Given the description of an element on the screen output the (x, y) to click on. 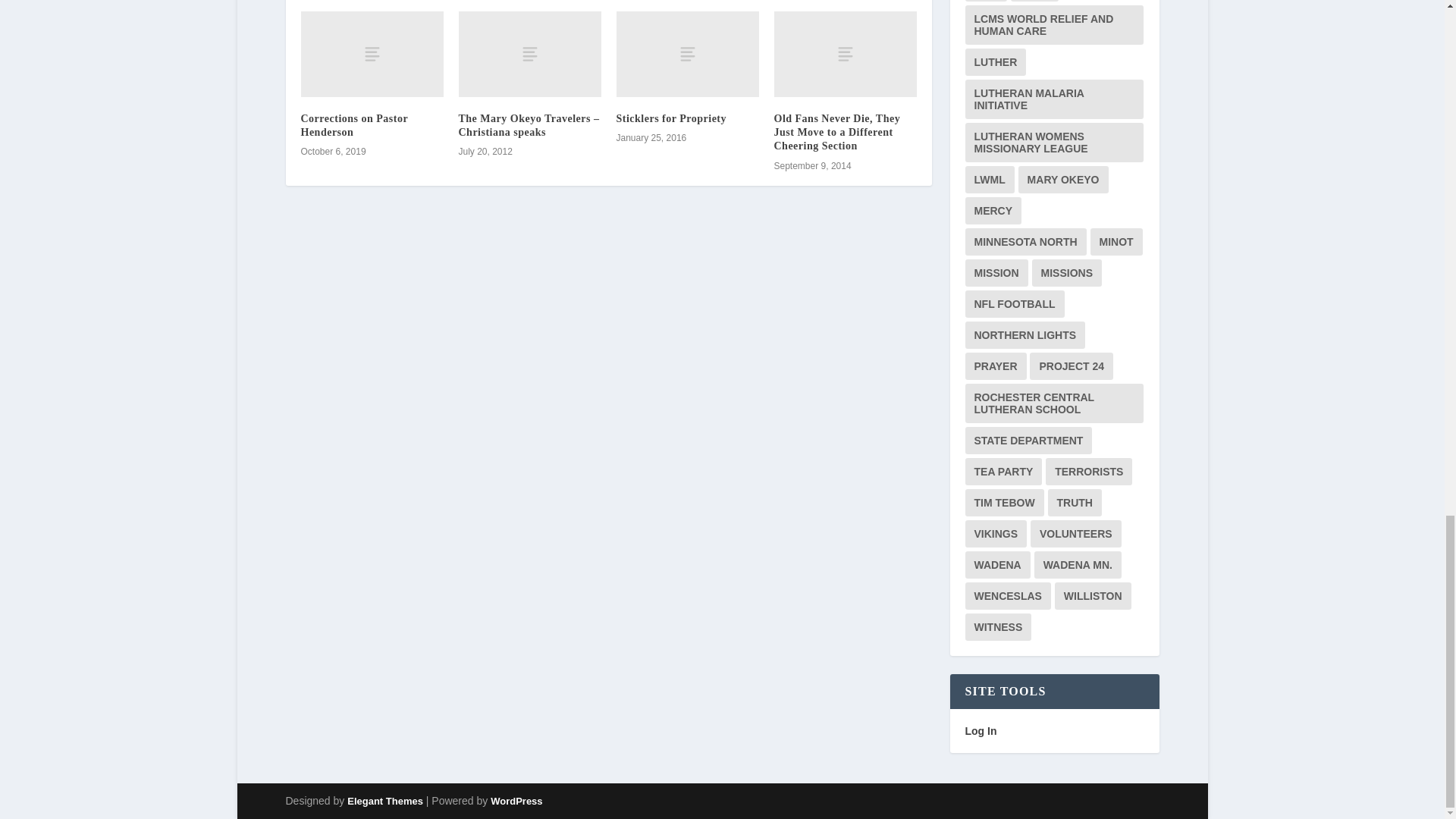
Sticklers for Propriety (686, 54)
Corrections on Pastor Henderson (370, 54)
Corrections on Pastor Henderson (353, 125)
Sticklers for Propriety (670, 118)
